Given the description of an element on the screen output the (x, y) to click on. 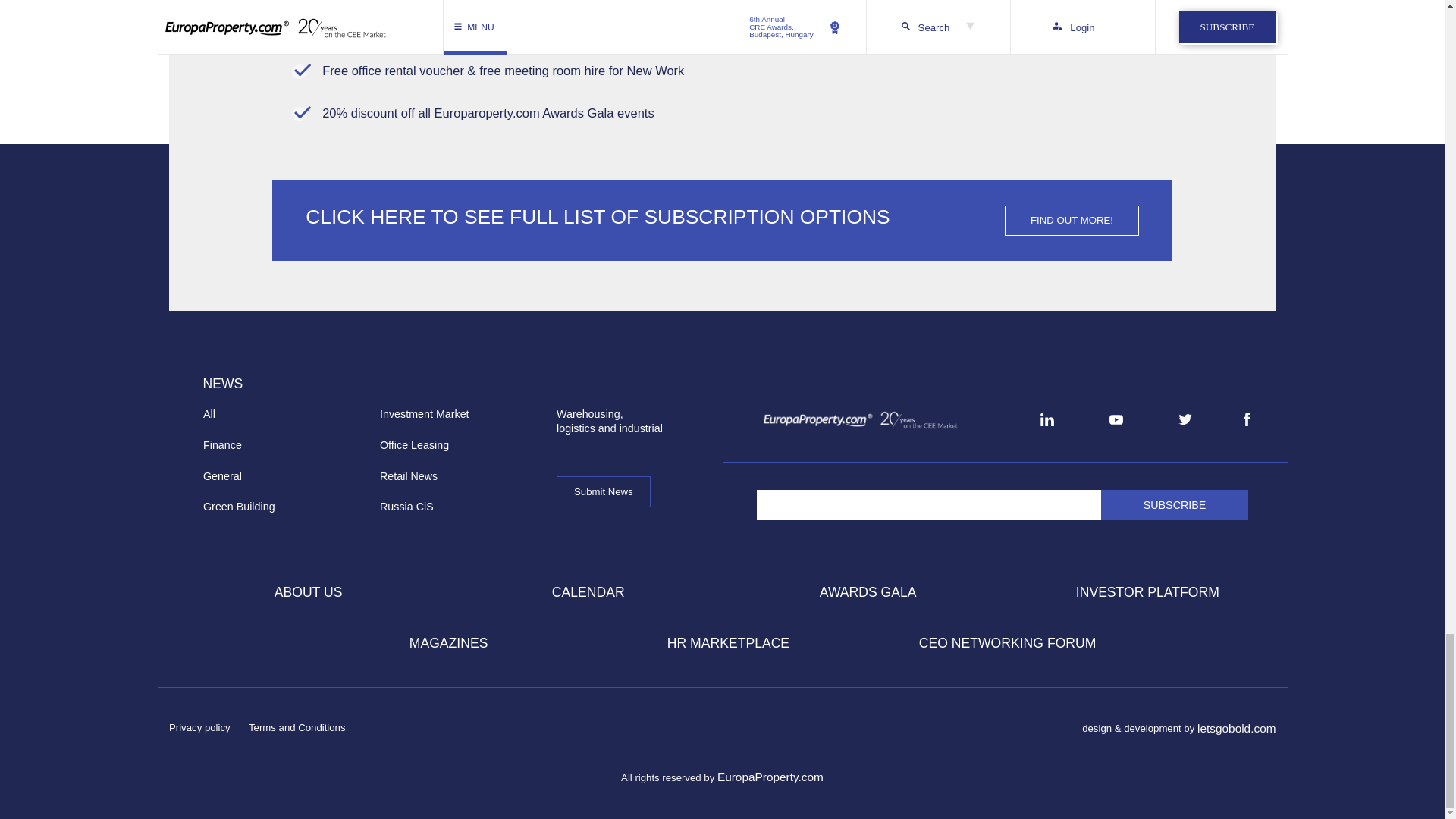
Subscribe (1174, 504)
LinkedIn (1047, 419)
YouTube (1116, 419)
Twitter (1184, 418)
